Given the description of an element on the screen output the (x, y) to click on. 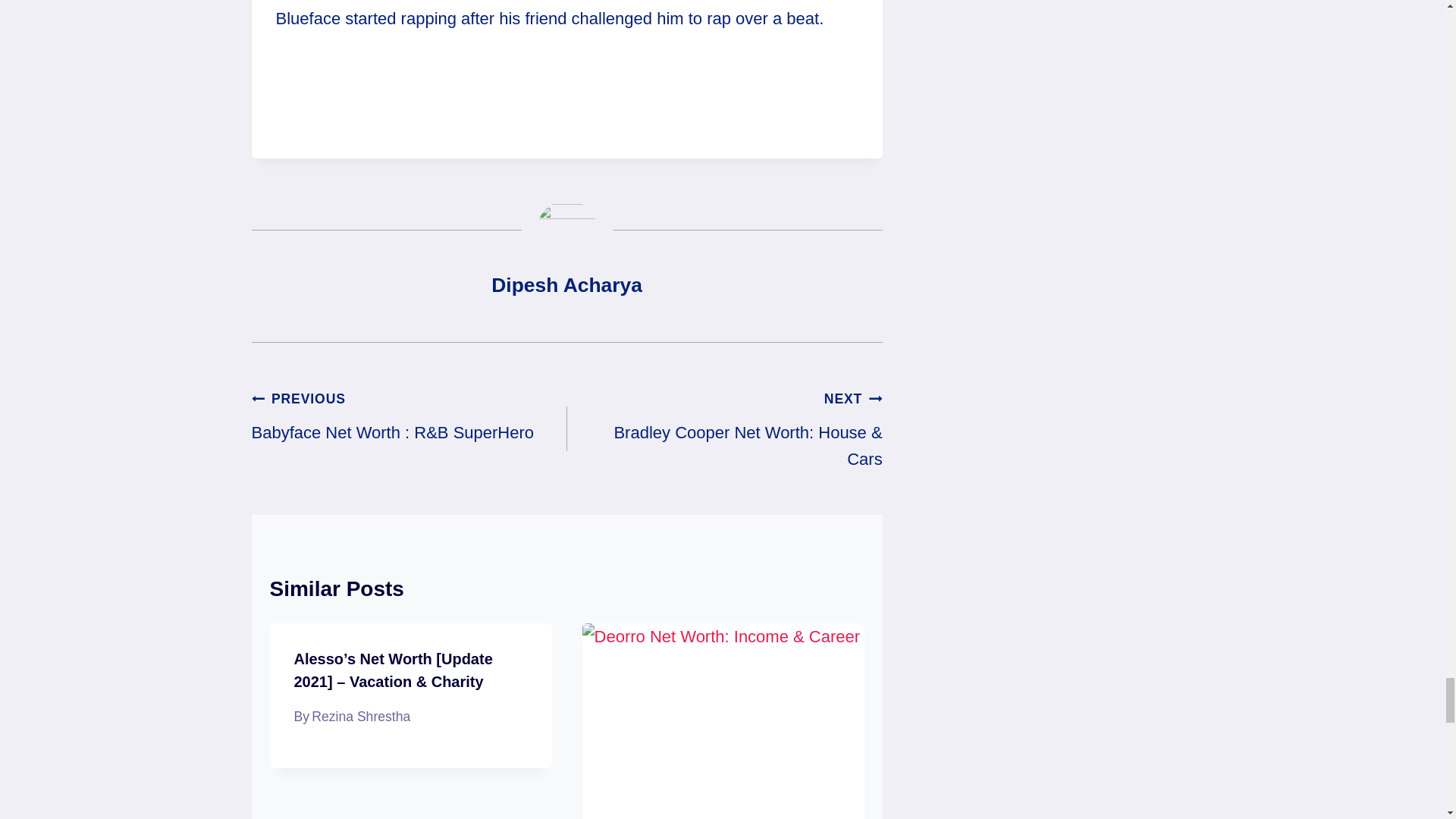
Rezina Shrestha (360, 716)
Posts by Dipesh Acharya (567, 284)
Dipesh Acharya (567, 284)
